Given the description of an element on the screen output the (x, y) to click on. 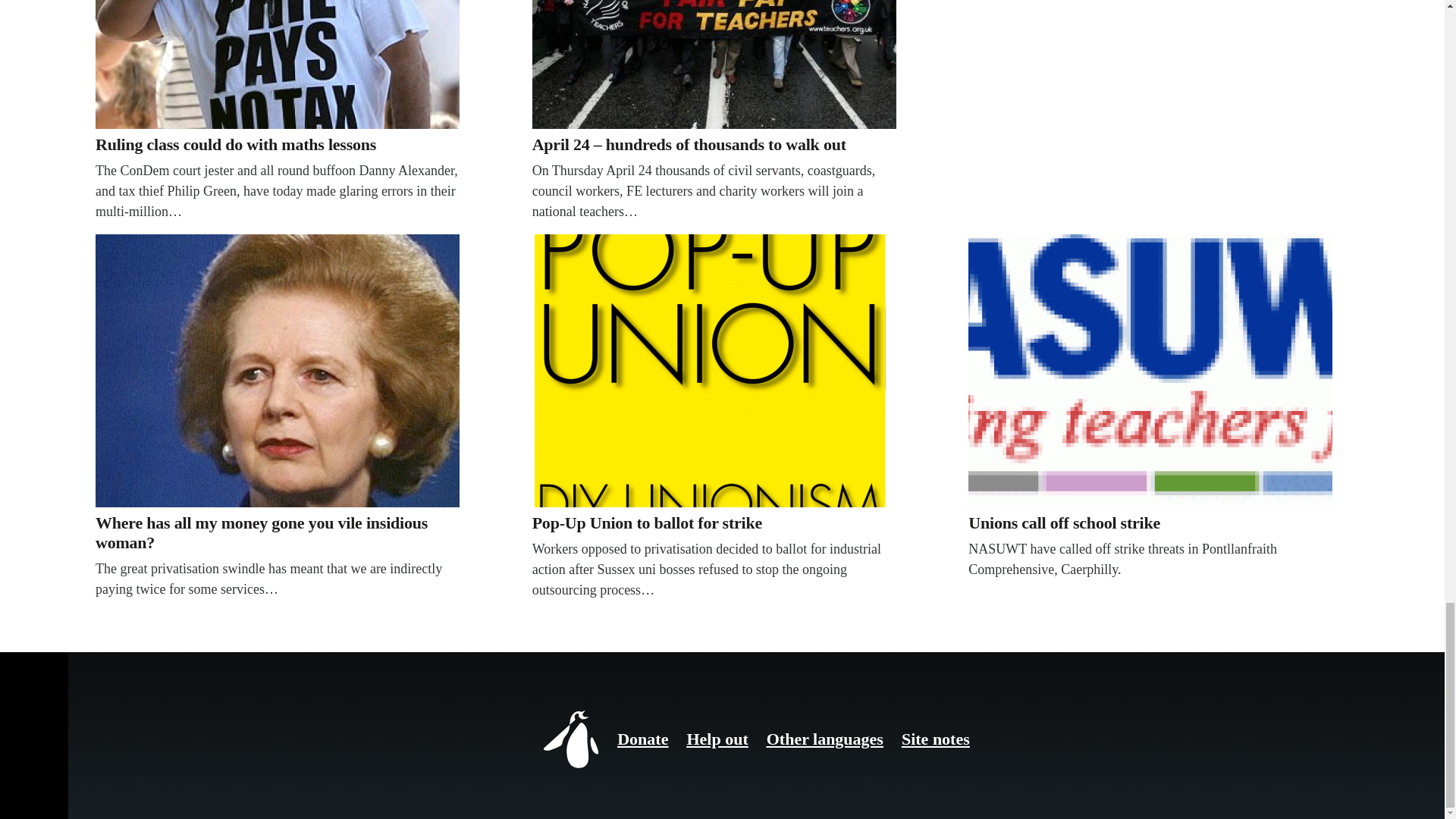
NASUWT called off the strike after negotiations (1150, 370)
Site notes (935, 738)
libcom content in languages other than English (825, 738)
Teachers on strike, April 24, 2008 (714, 64)
Other languages (825, 738)
Pop-Up Union to ballot for strike (714, 370)
Help out (716, 738)
Donate (642, 738)
